Given the description of an element on the screen output the (x, y) to click on. 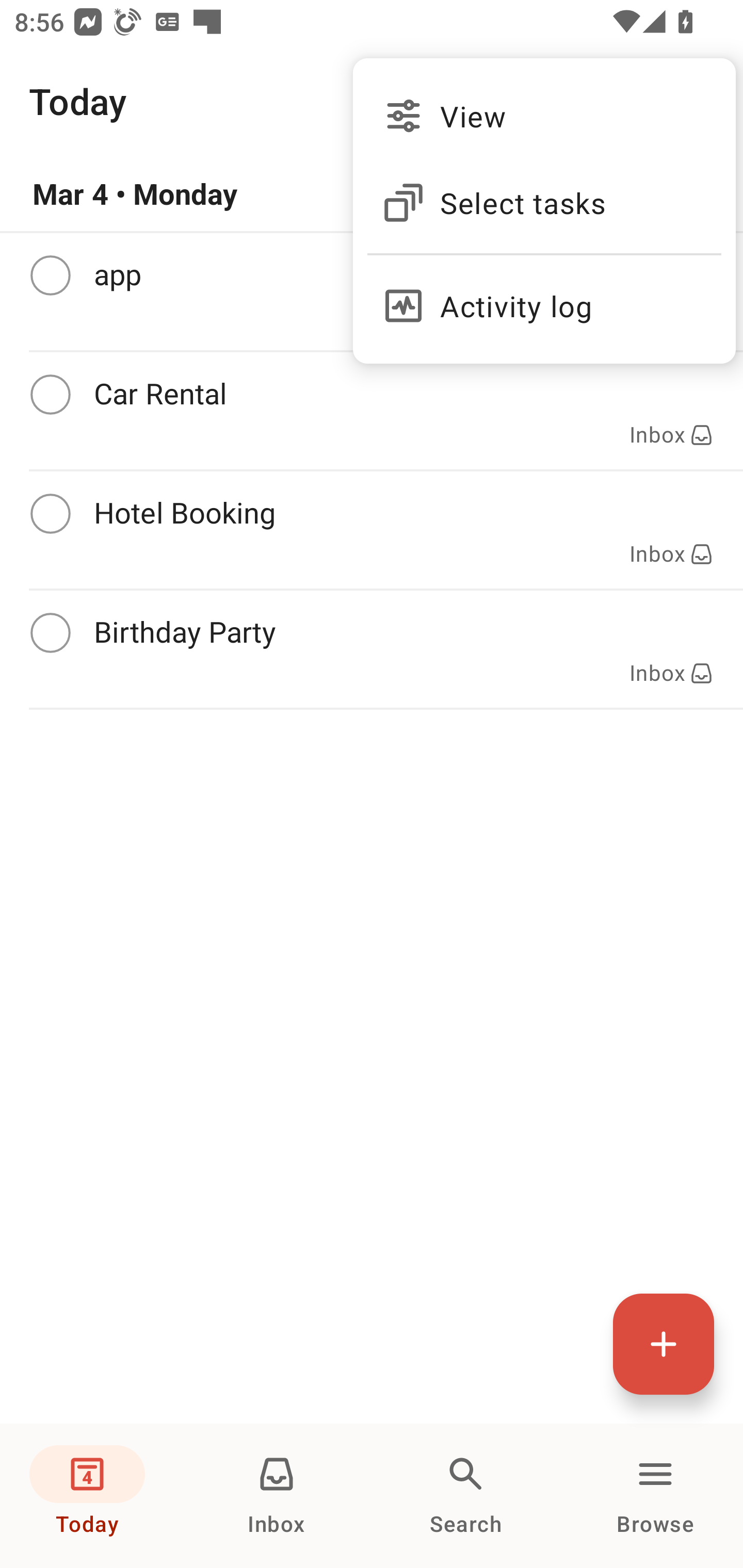
View (544, 115)
Select tasks (544, 202)
Activity log (544, 297)
